Given the description of an element on the screen output the (x, y) to click on. 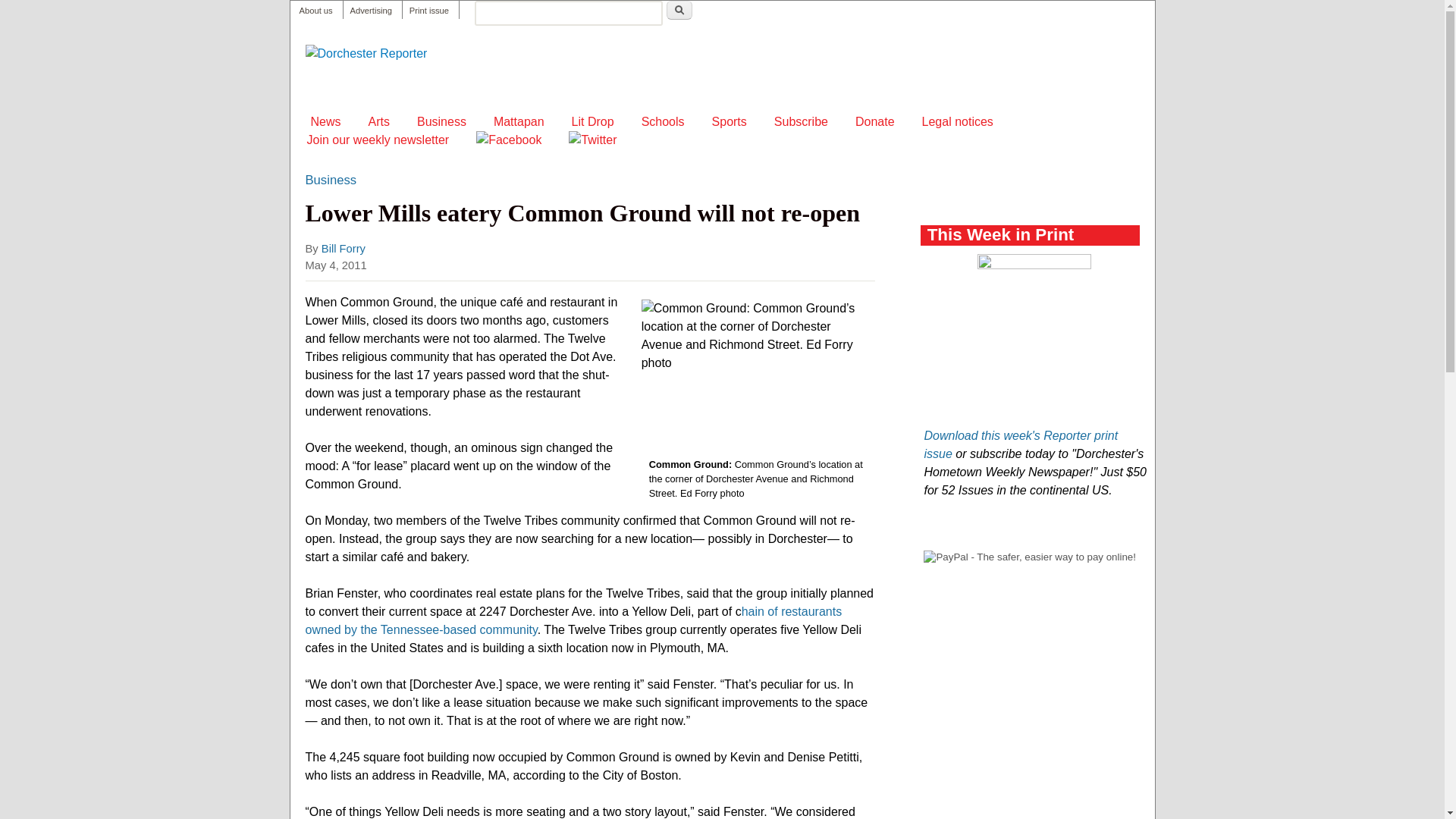
Download this week's Reporter print issue (1020, 444)
Schools (662, 122)
Bill Forry (343, 248)
Arts (379, 122)
hain of restaurants owned by the Tennessee-based community (572, 620)
Join our weekly newsletter (376, 140)
The DotNews Twitter feed (592, 140)
Lit Drop (593, 122)
Dorchester Reporter weekly print issue (428, 10)
